Given the description of an element on the screen output the (x, y) to click on. 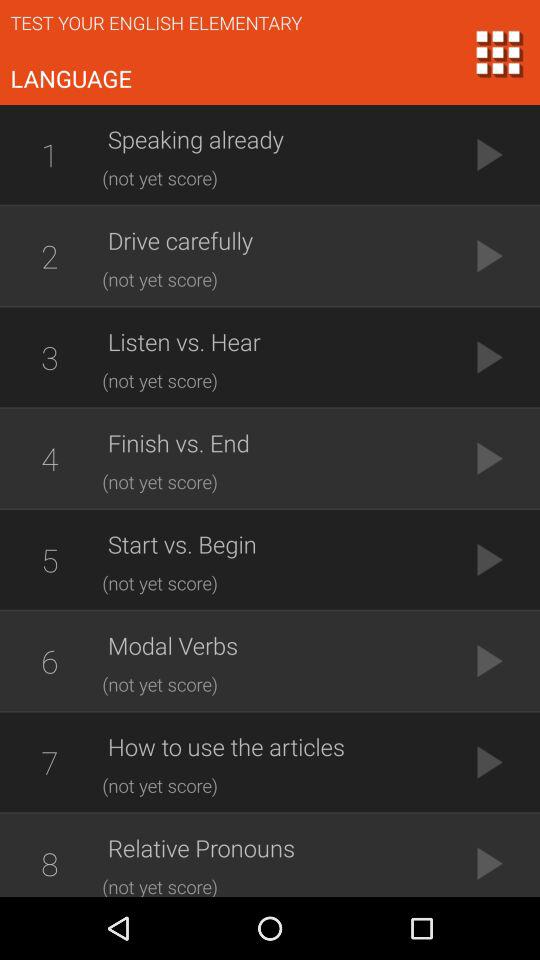
choose 7 (49, 762)
